Given the description of an element on the screen output the (x, y) to click on. 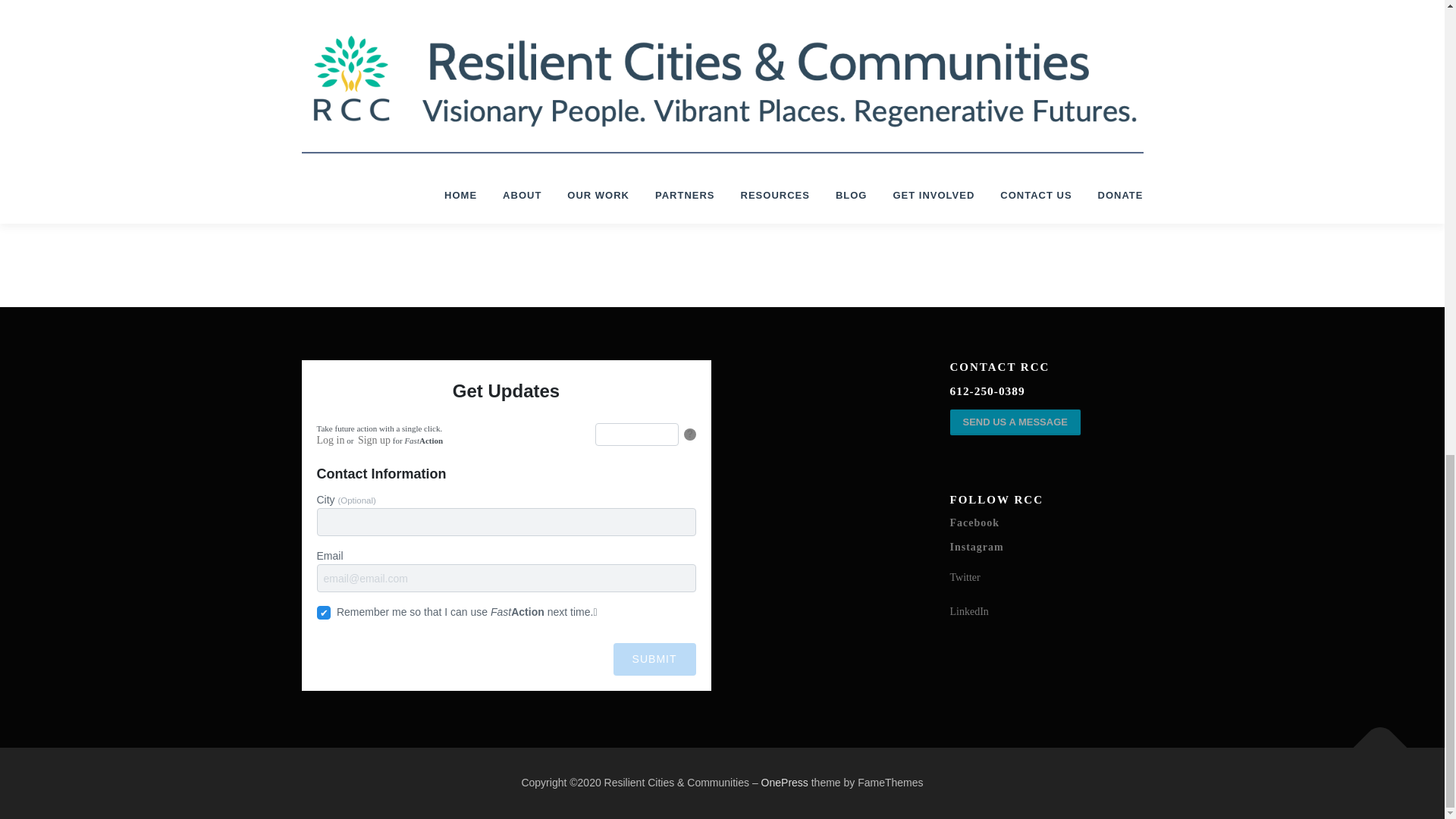
City (506, 521)
Back To Top (1372, 740)
Submit (653, 658)
